Given the description of an element on the screen output the (x, y) to click on. 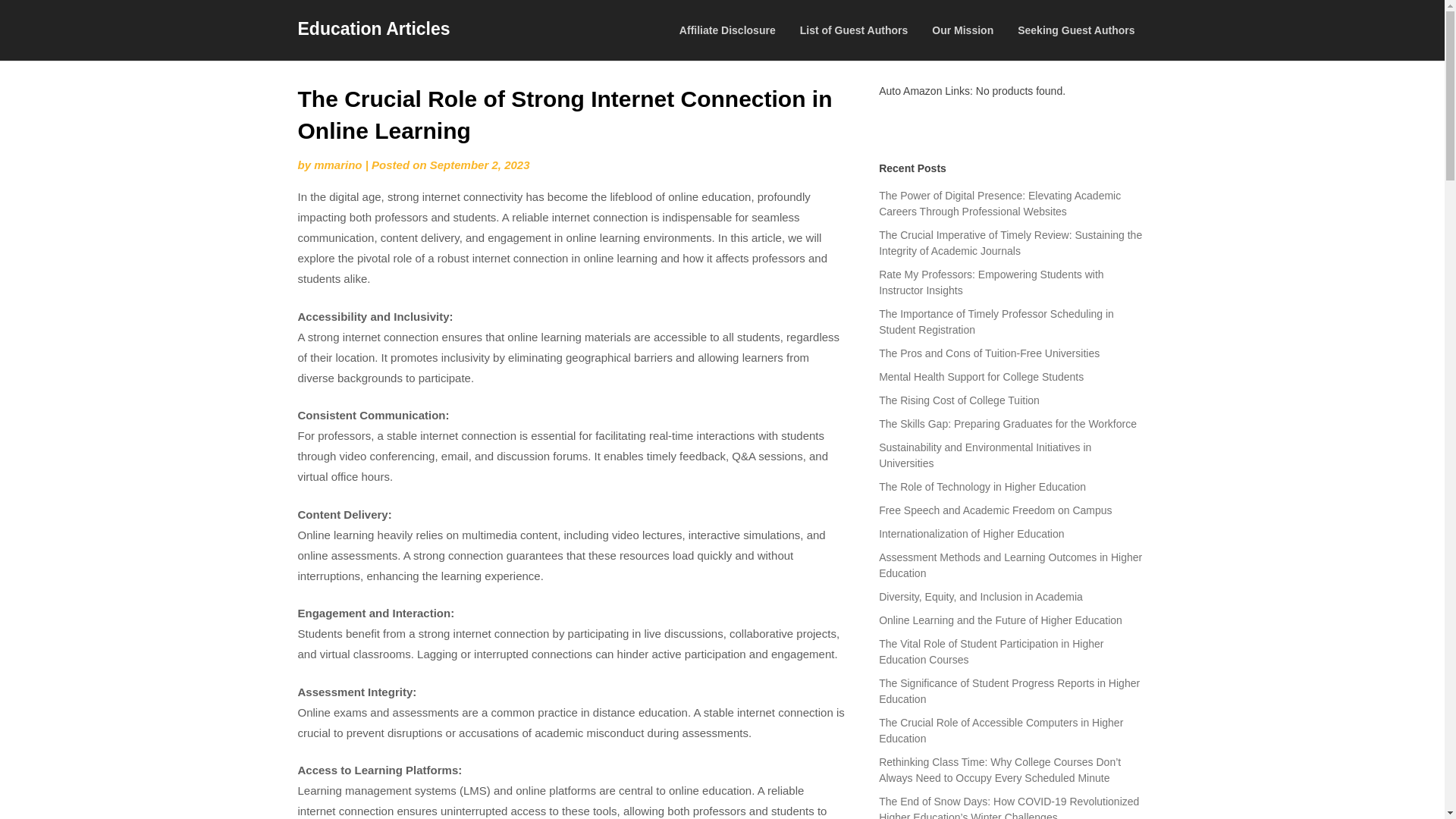
Diversity, Equity, and Inclusion in Academia (981, 596)
Internationalization of Higher Education (971, 533)
The Crucial Role of Accessible Computers in Higher Education (1000, 730)
Assessment Methods and Learning Outcomes in Higher Education (1010, 565)
Online Learning and the Future of Higher Education (1000, 620)
The Rising Cost of College Tuition (959, 399)
mmarino (337, 164)
